Given the description of an element on the screen output the (x, y) to click on. 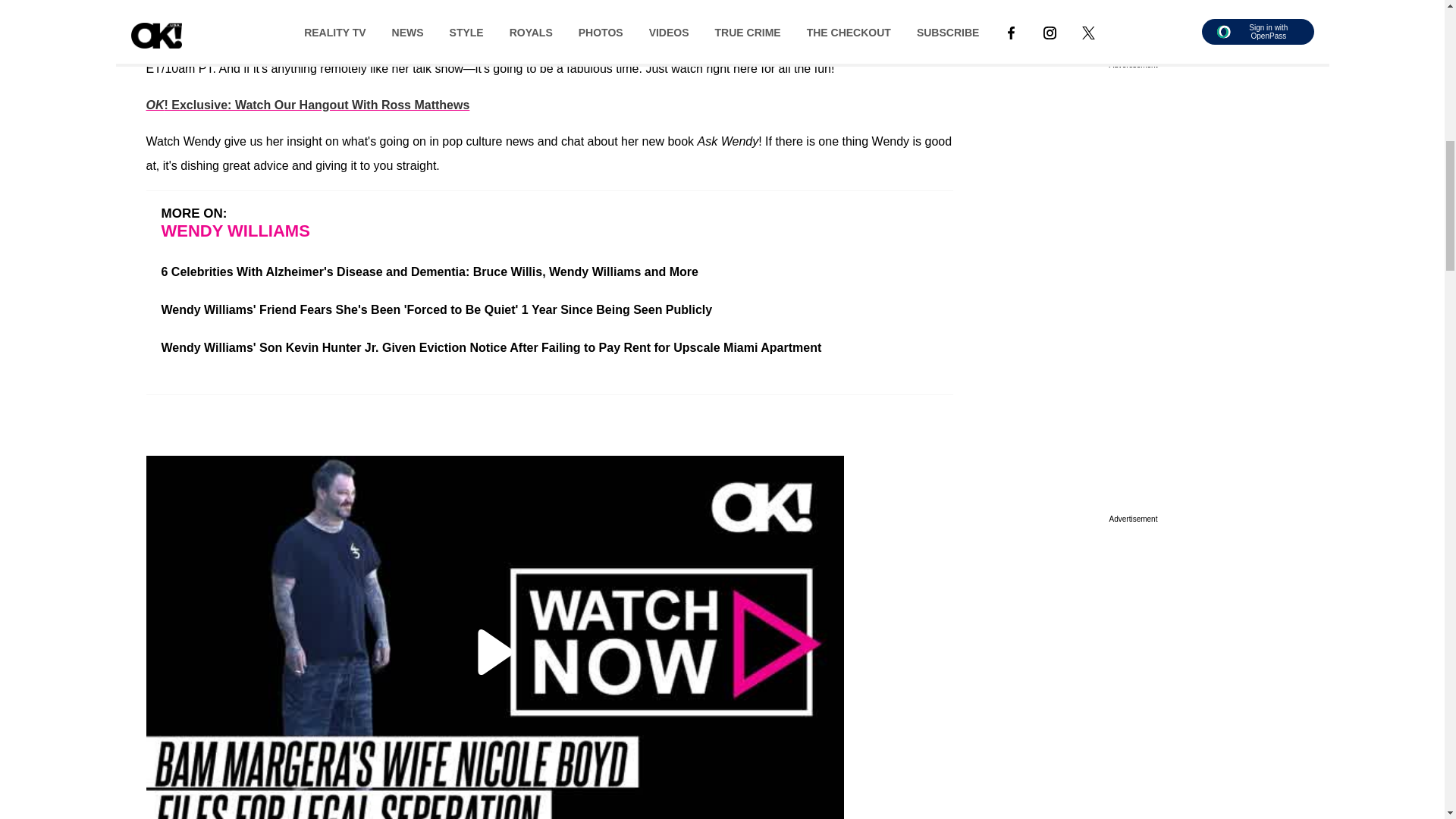
OK! Exclusive: Watch Our Hangout With Ross Matthews (306, 104)
